Given the description of an element on the screen output the (x, y) to click on. 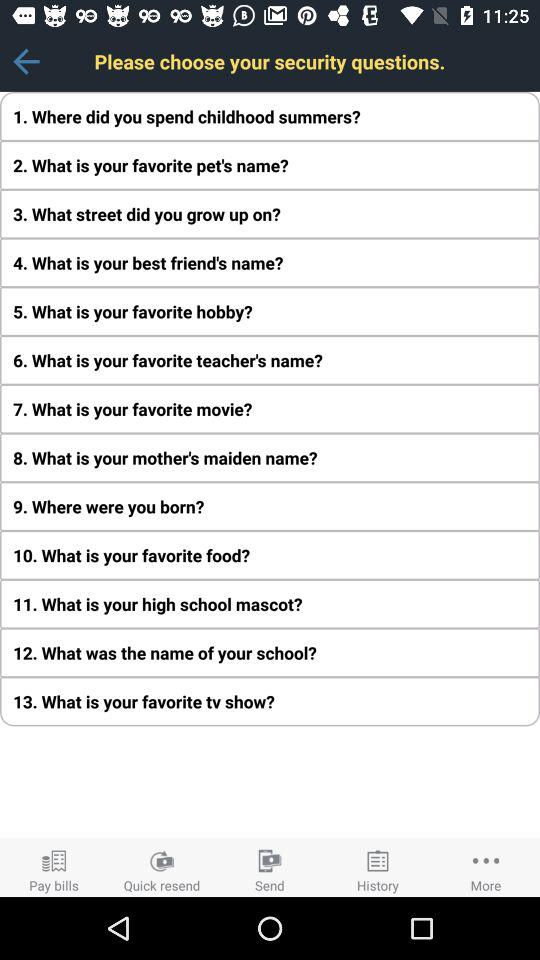
go back (26, 61)
